Given the description of an element on the screen output the (x, y) to click on. 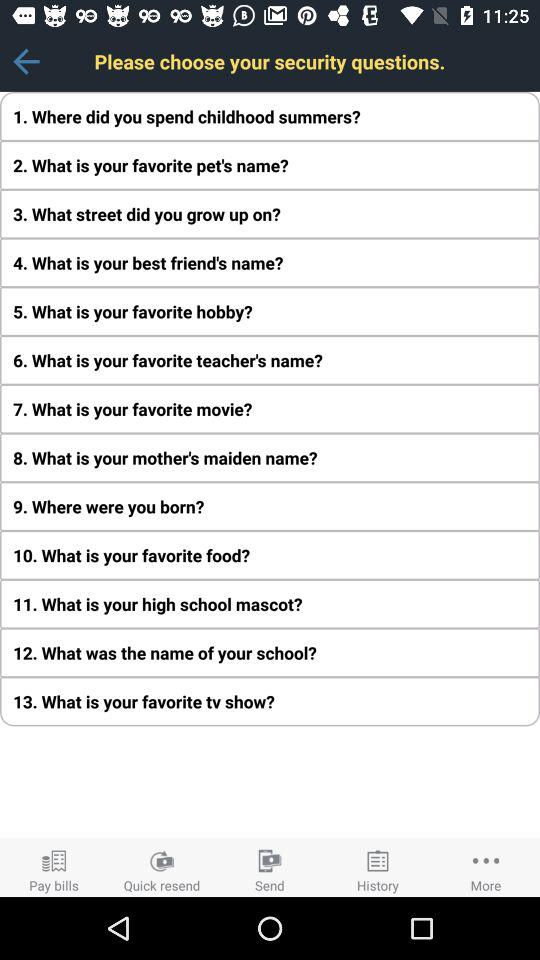
go back (26, 61)
